Given the description of an element on the screen output the (x, y) to click on. 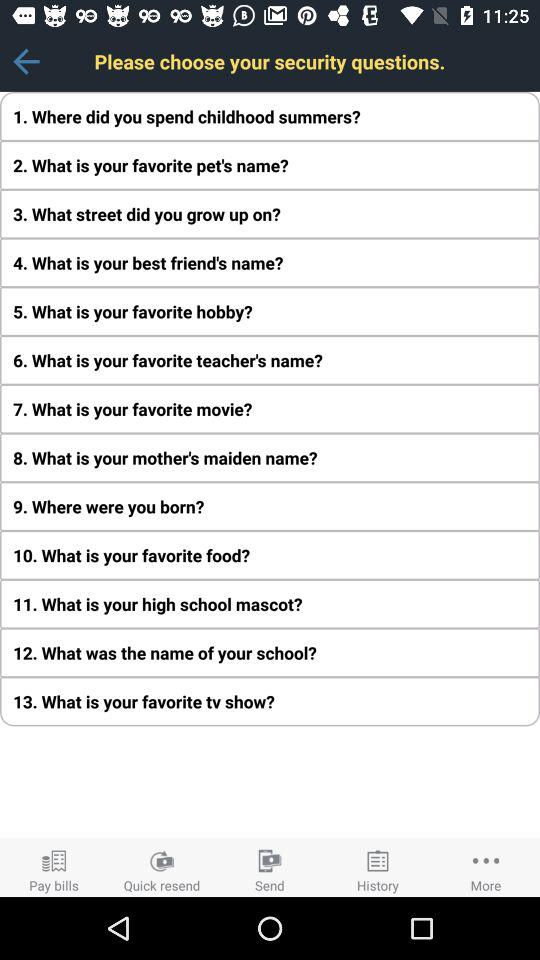
go back (26, 61)
